Given the description of an element on the screen output the (x, y) to click on. 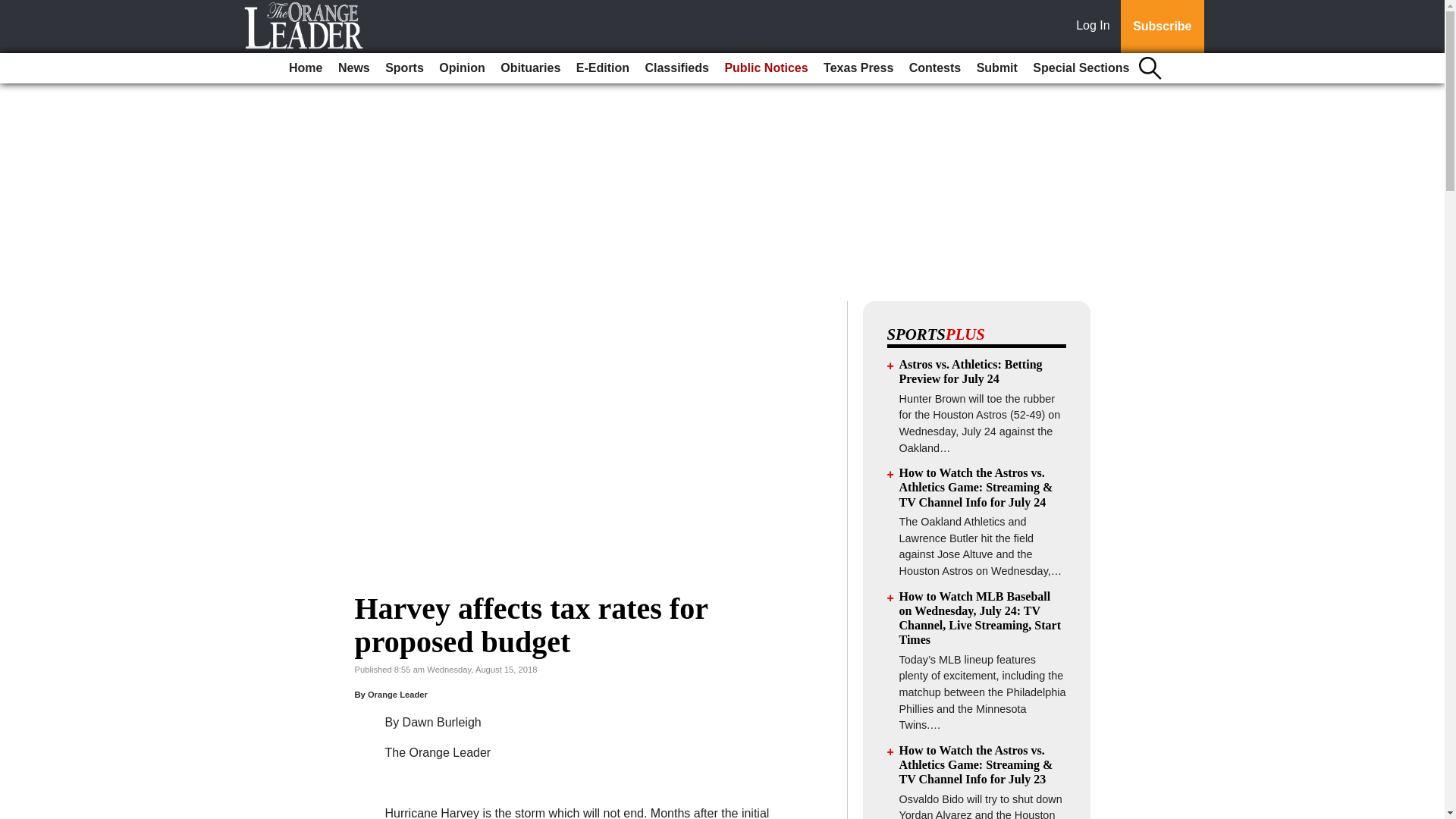
Home (305, 68)
Opinion (461, 68)
Classifieds (676, 68)
Submit (997, 68)
Sports (403, 68)
Special Sections (1080, 68)
Go (13, 9)
Public Notices (765, 68)
Texas Press (857, 68)
Orange Leader (398, 694)
Contests (934, 68)
Astros vs. Athletics: Betting Preview for July 24 (970, 370)
Subscribe (1162, 26)
E-Edition (602, 68)
